Given the description of an element on the screen output the (x, y) to click on. 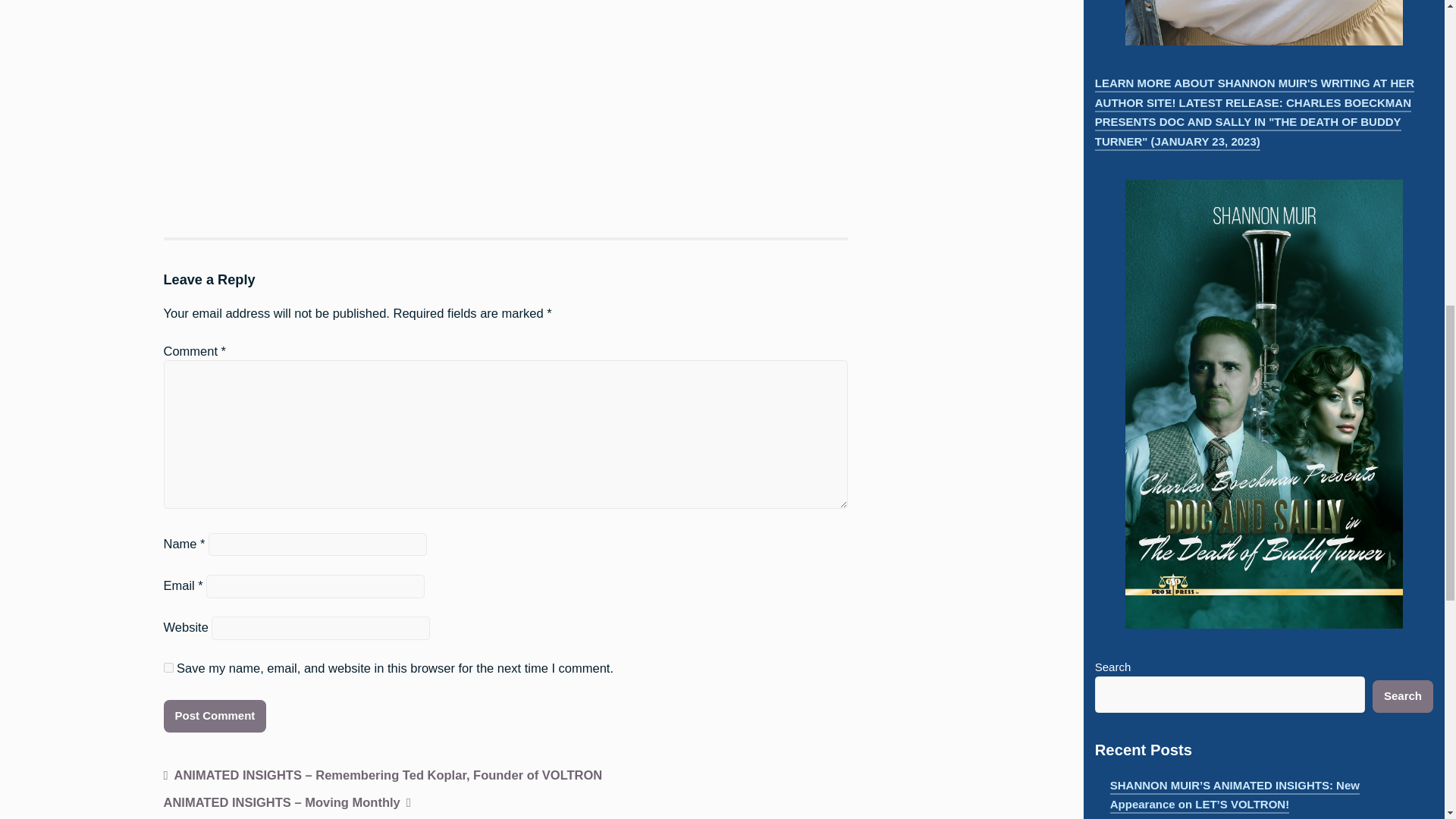
yes (168, 667)
Post Comment (214, 716)
Search (1402, 696)
Post Comment (214, 716)
YouTube video player (375, 97)
